Given the description of an element on the screen output the (x, y) to click on. 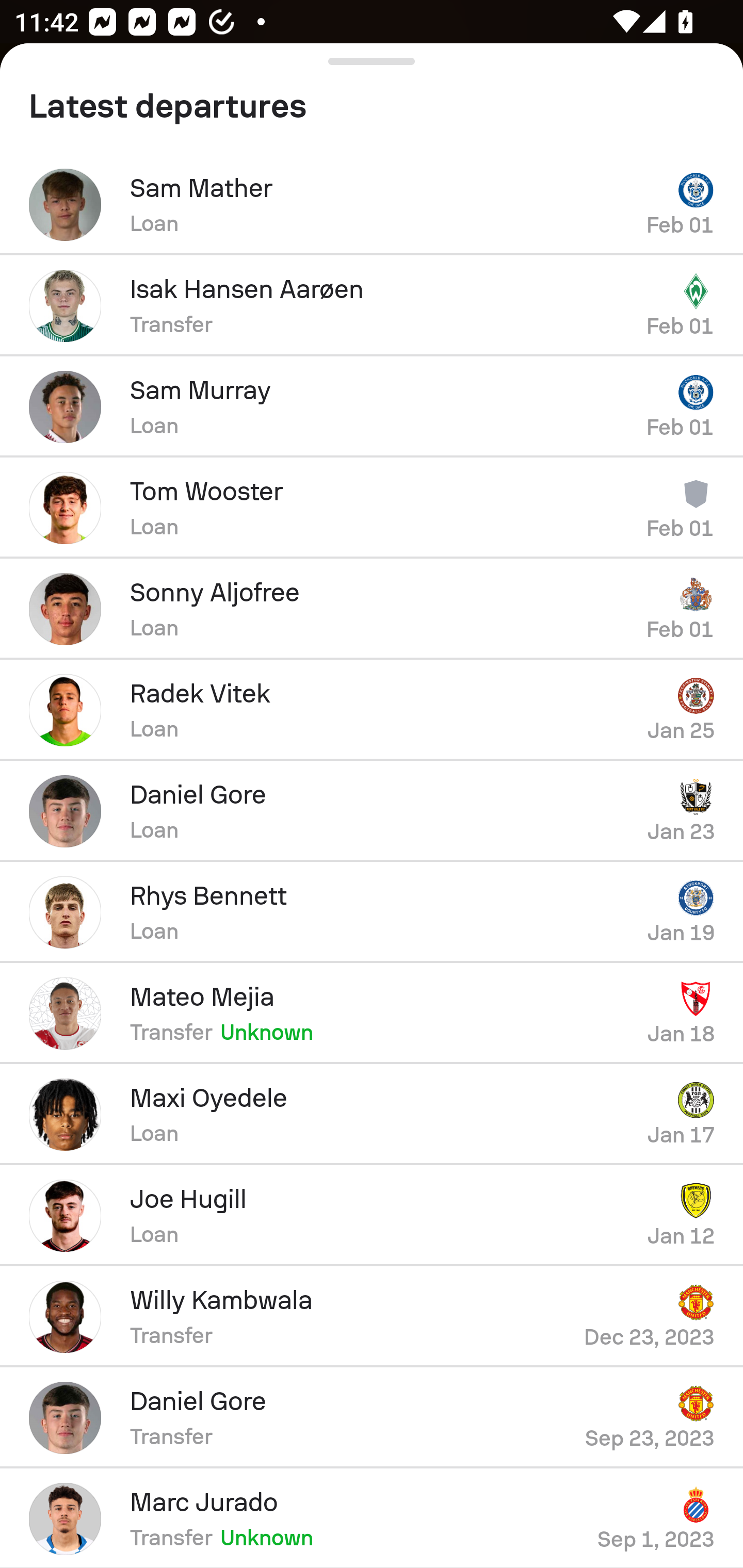
Sam Mather Loan Feb 01 (371, 204)
Isak Hansen Aarøen Transfer Feb 01 (371, 305)
Sam Murray Loan Feb 01 (371, 406)
Tom Wooster Loan Feb 01 (371, 507)
Sonny Aljofree Loan Feb 01 (371, 609)
Radek Vitek Loan Jan 25 (371, 710)
Daniel Gore Loan Jan 23 (371, 811)
Rhys Bennett Loan Jan 19 (371, 912)
Mateo Mejia Transfer Unknown Jan 18 (371, 1013)
Maxi Oyedele Loan Jan 17 (371, 1114)
Joe Hugill Loan Jan 12 (371, 1215)
Willy Kambwala Transfer Dec 23, 2023 (371, 1316)
Daniel Gore Transfer Sep 23, 2023 (371, 1418)
Marc Jurado Transfer Unknown Sep 1, 2023 (371, 1518)
